Given the description of an element on the screen output the (x, y) to click on. 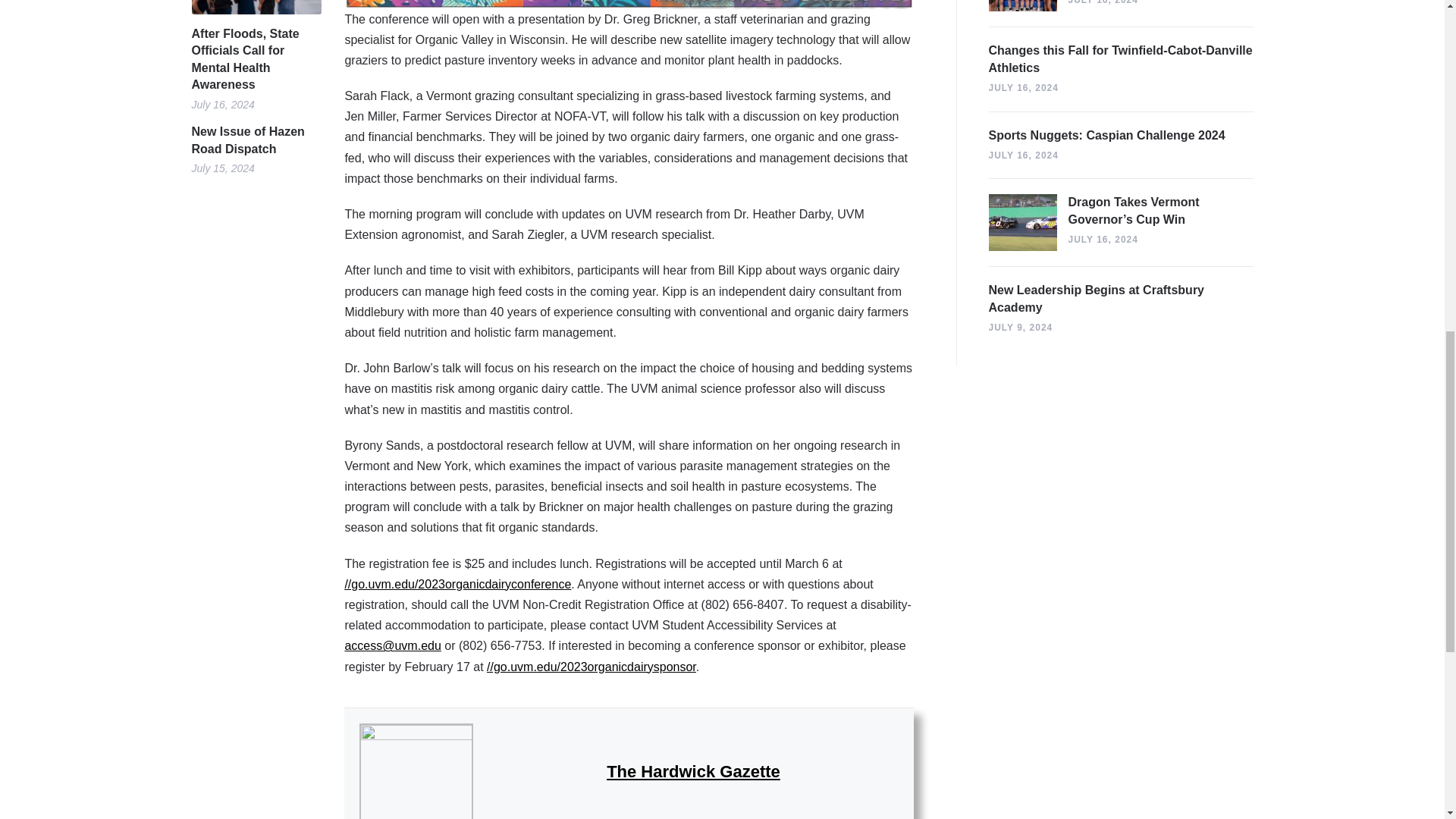
Permalink to New Issue of Hazen Road Dispatch (255, 140)
